Given the description of an element on the screen output the (x, y) to click on. 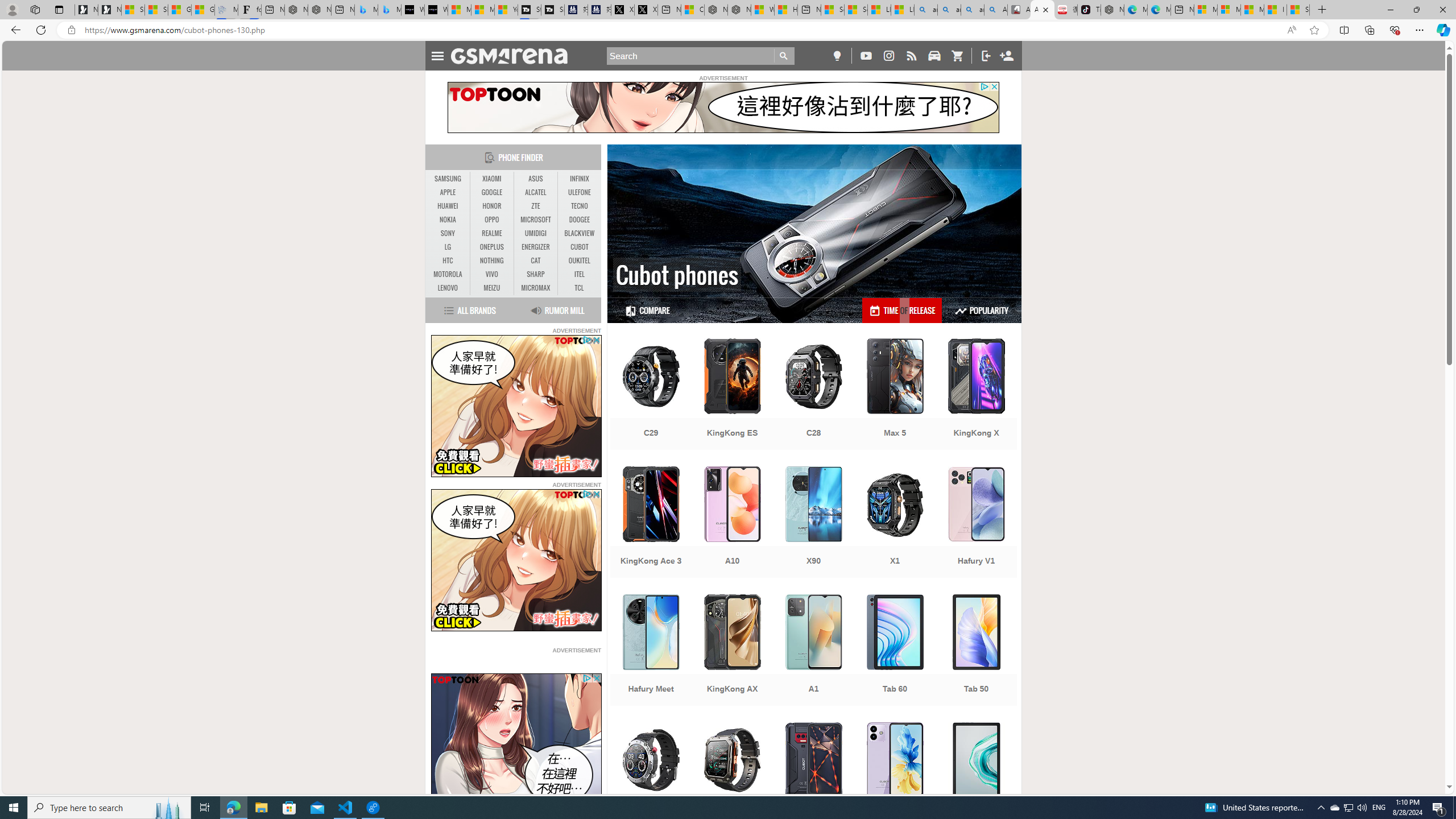
MEIZU (491, 287)
KingKong ES (732, 395)
XIAOMI (491, 178)
MOTOROLA (448, 273)
CUBOT (579, 246)
